Given the description of an element on the screen output the (x, y) to click on. 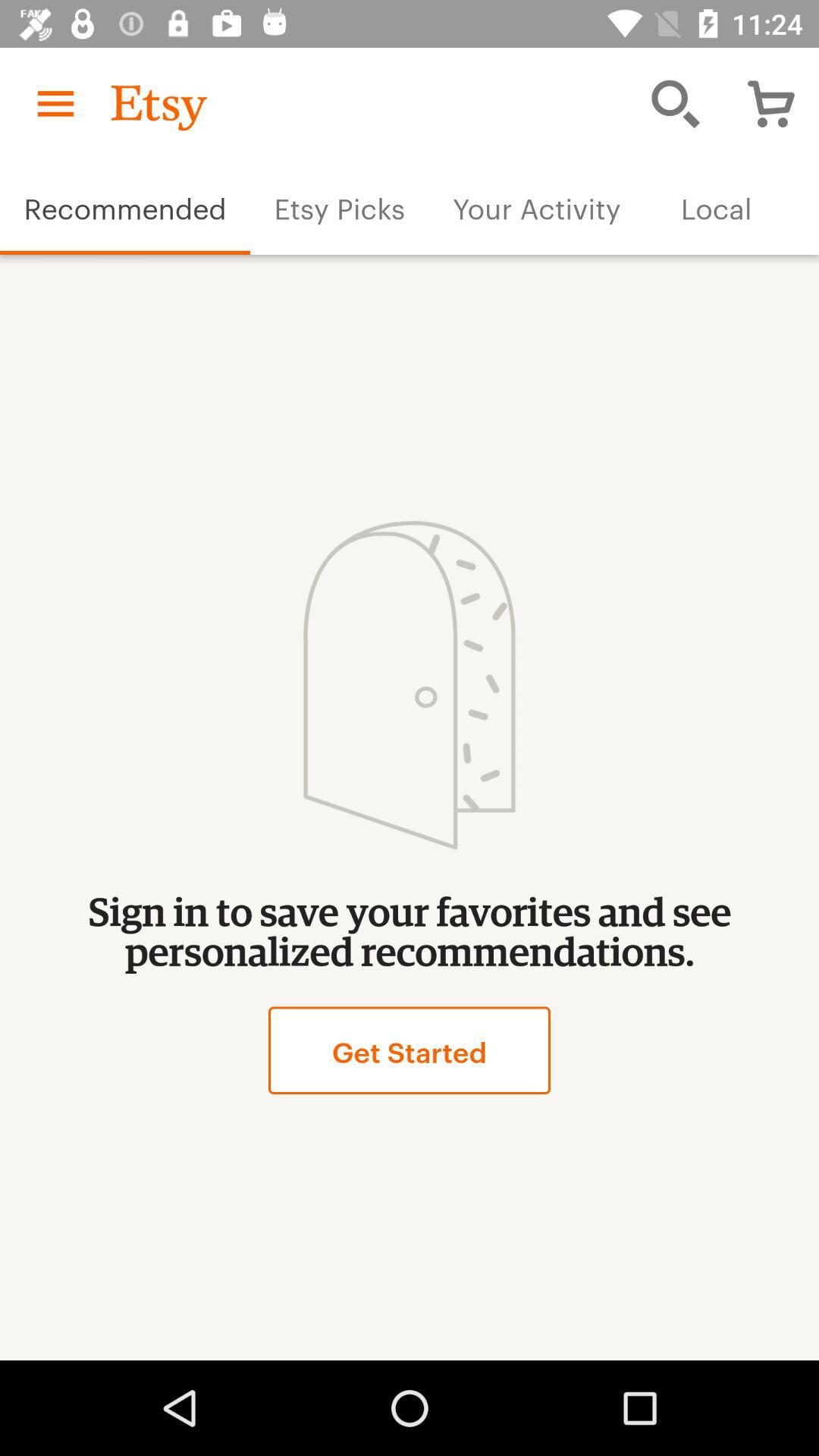
tap the get started (409, 1050)
